Given the description of an element on the screen output the (x, y) to click on. 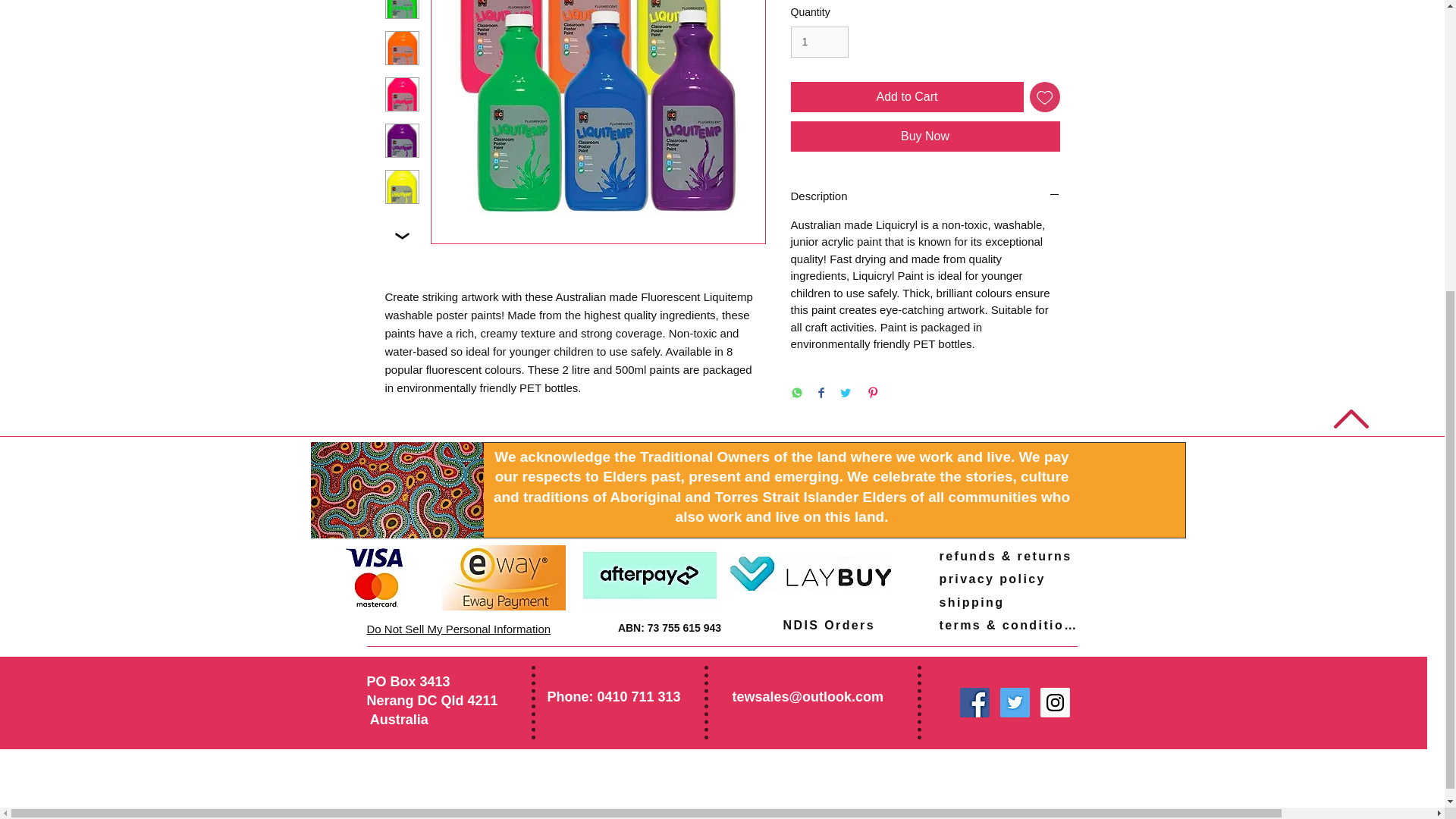
1 (818, 41)
